Given the description of an element on the screen output the (x, y) to click on. 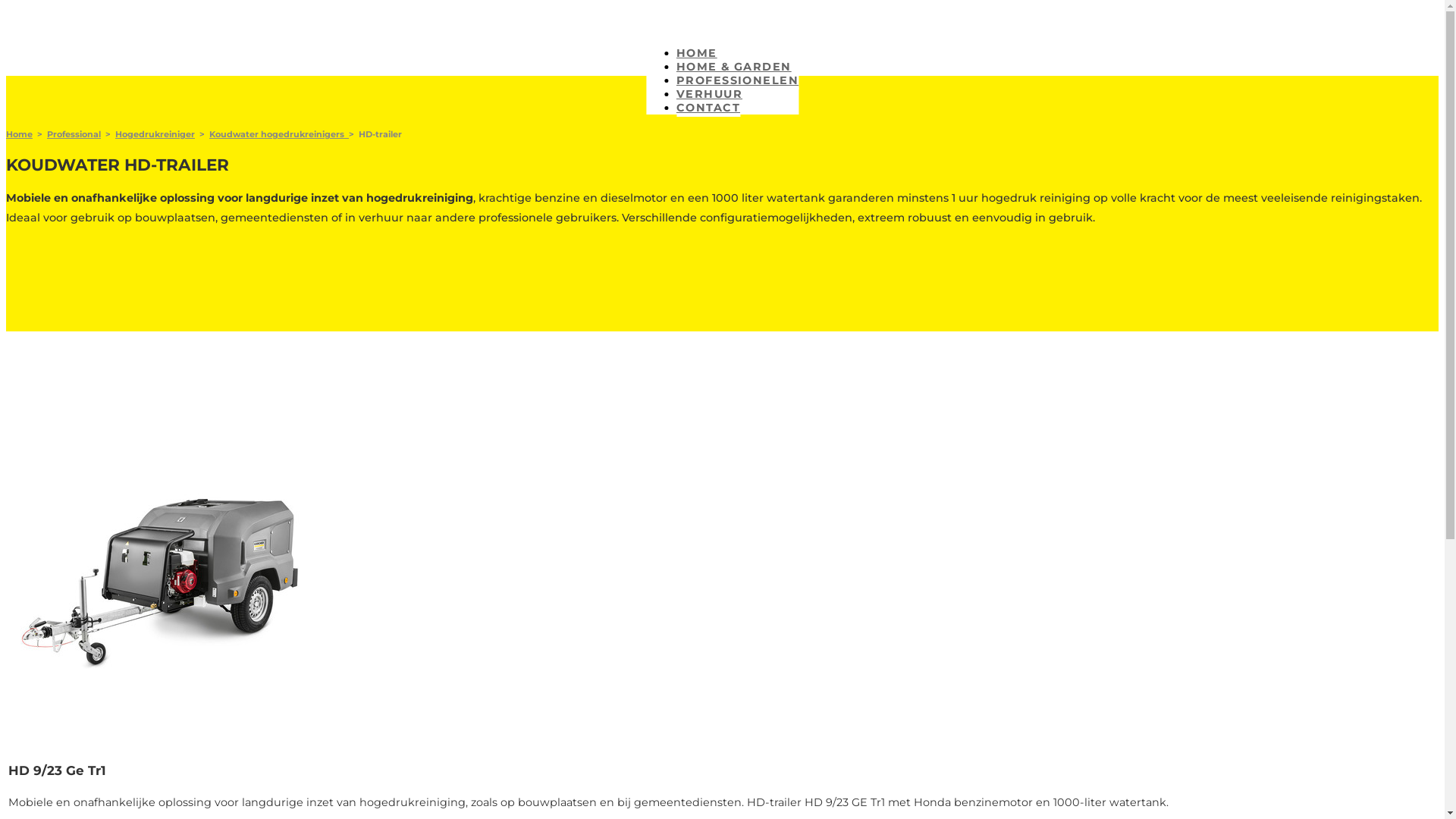
Koudwater hogedrukreinigers   Element type: text (278, 133)
CONTACT Element type: text (708, 108)
PROFESSIONELEN Element type: text (737, 81)
Hogedrukreiniger Element type: text (154, 133)
VERHUUR Element type: text (709, 95)
Home Element type: text (19, 133)
Professional Element type: text (73, 133)
HOME Element type: text (696, 54)
HOME & GARDEN Element type: text (733, 67)
